Given the description of an element on the screen output the (x, y) to click on. 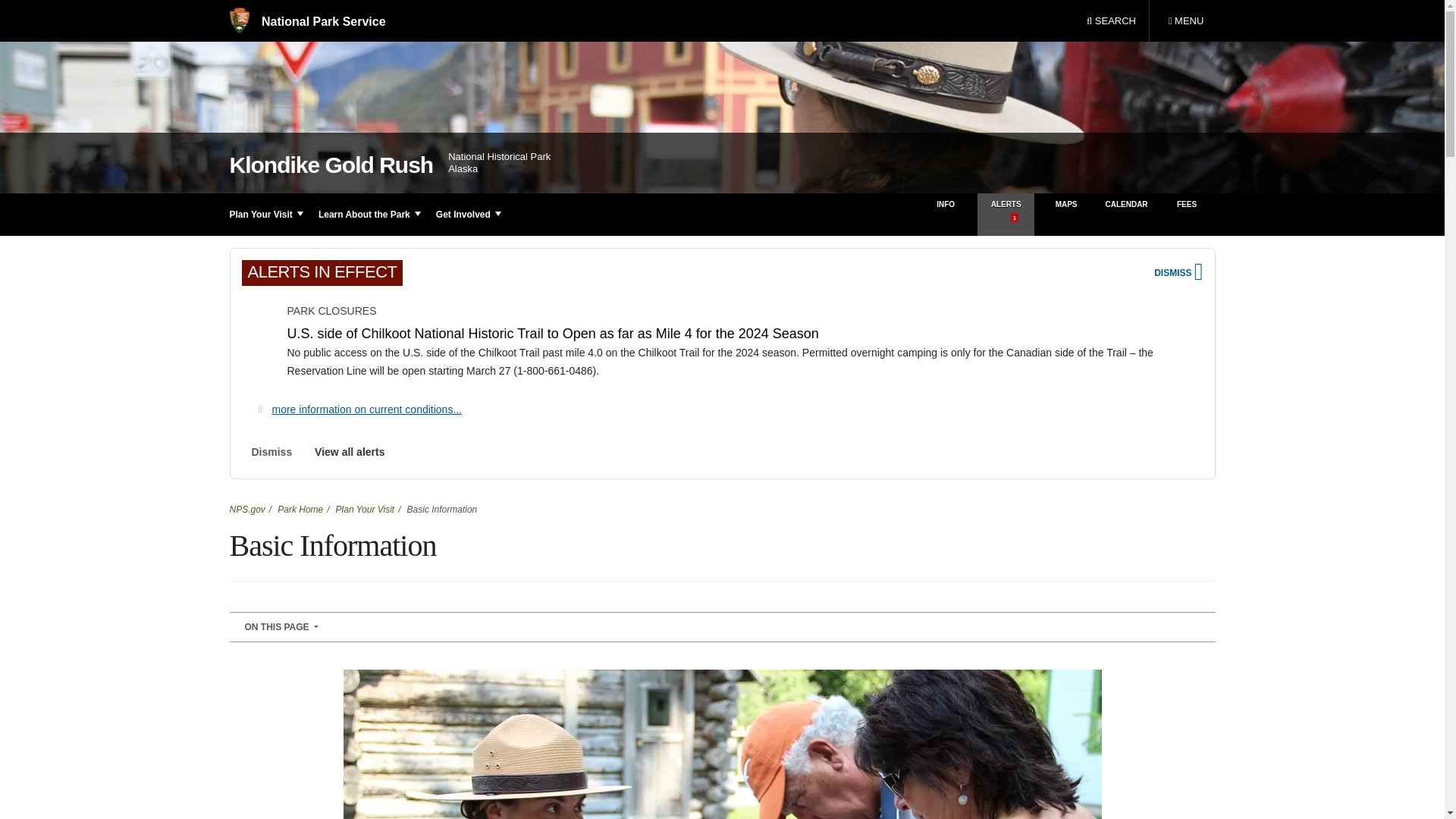
Alert Level Park Closure (1185, 20)
SEARCH (259, 338)
National Park Service (1111, 20)
Park Ranger talks to visitors at an outdoor table (307, 20)
